Given the description of an element on the screen output the (x, y) to click on. 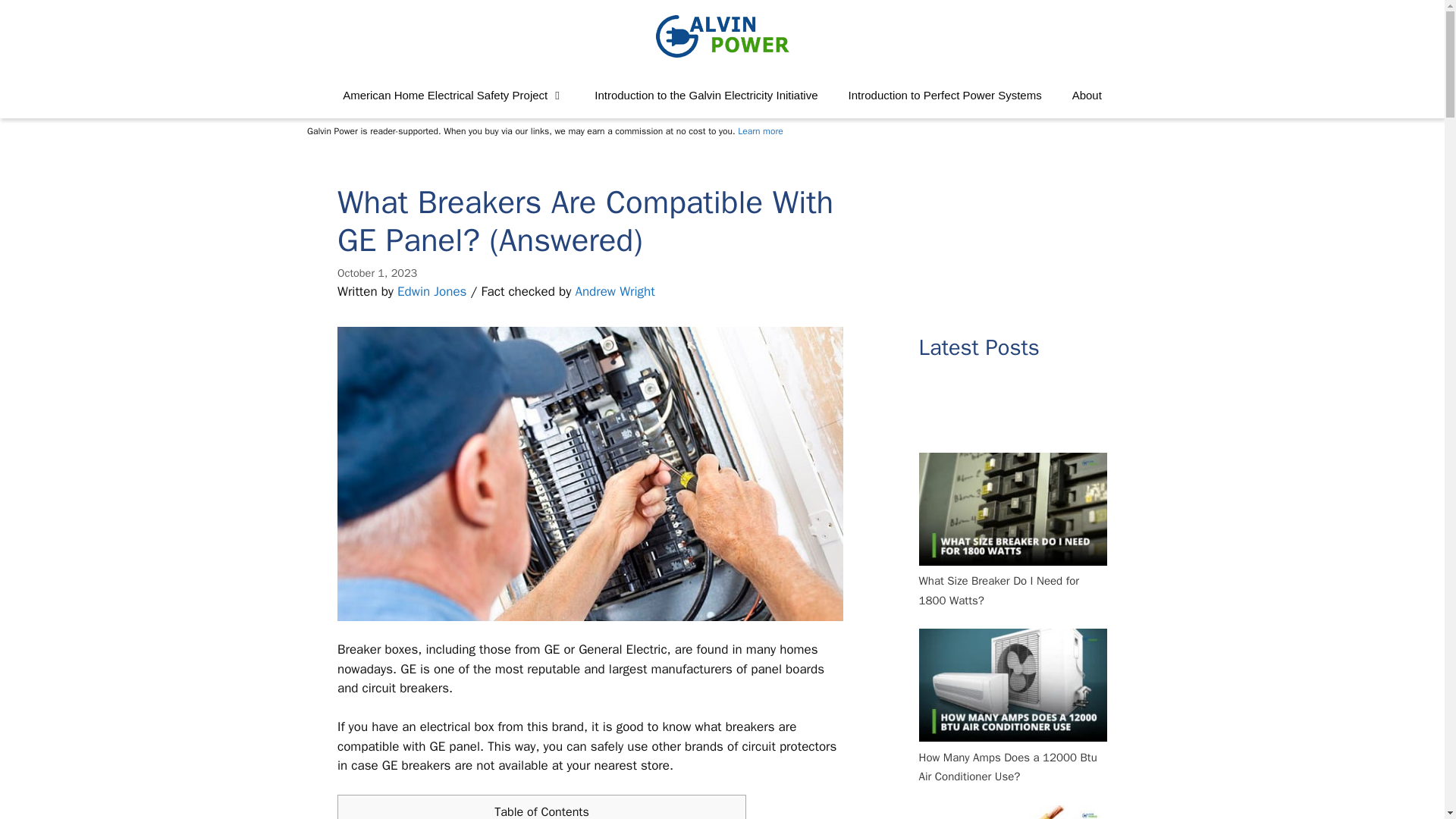
American Home Electrical Safety Project (453, 94)
